Given the description of an element on the screen output the (x, y) to click on. 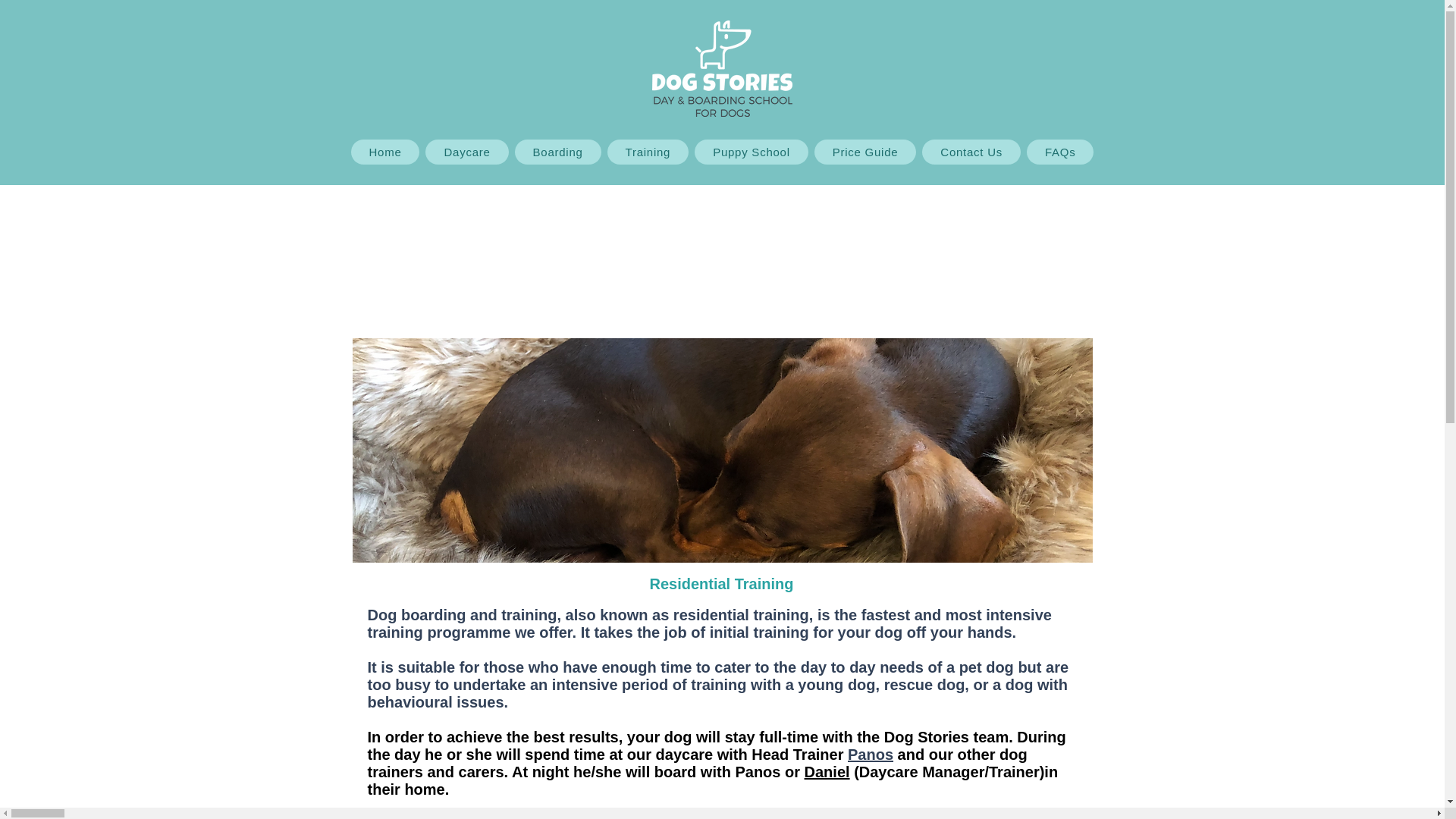
Puppy School (751, 151)
Home (384, 151)
Boarding (558, 151)
Training (647, 151)
Panos (870, 754)
FAQs (1059, 151)
Daycare (466, 151)
Price Guide (865, 151)
Contact Us (970, 151)
Daniel (827, 771)
